Given the description of an element on the screen output the (x, y) to click on. 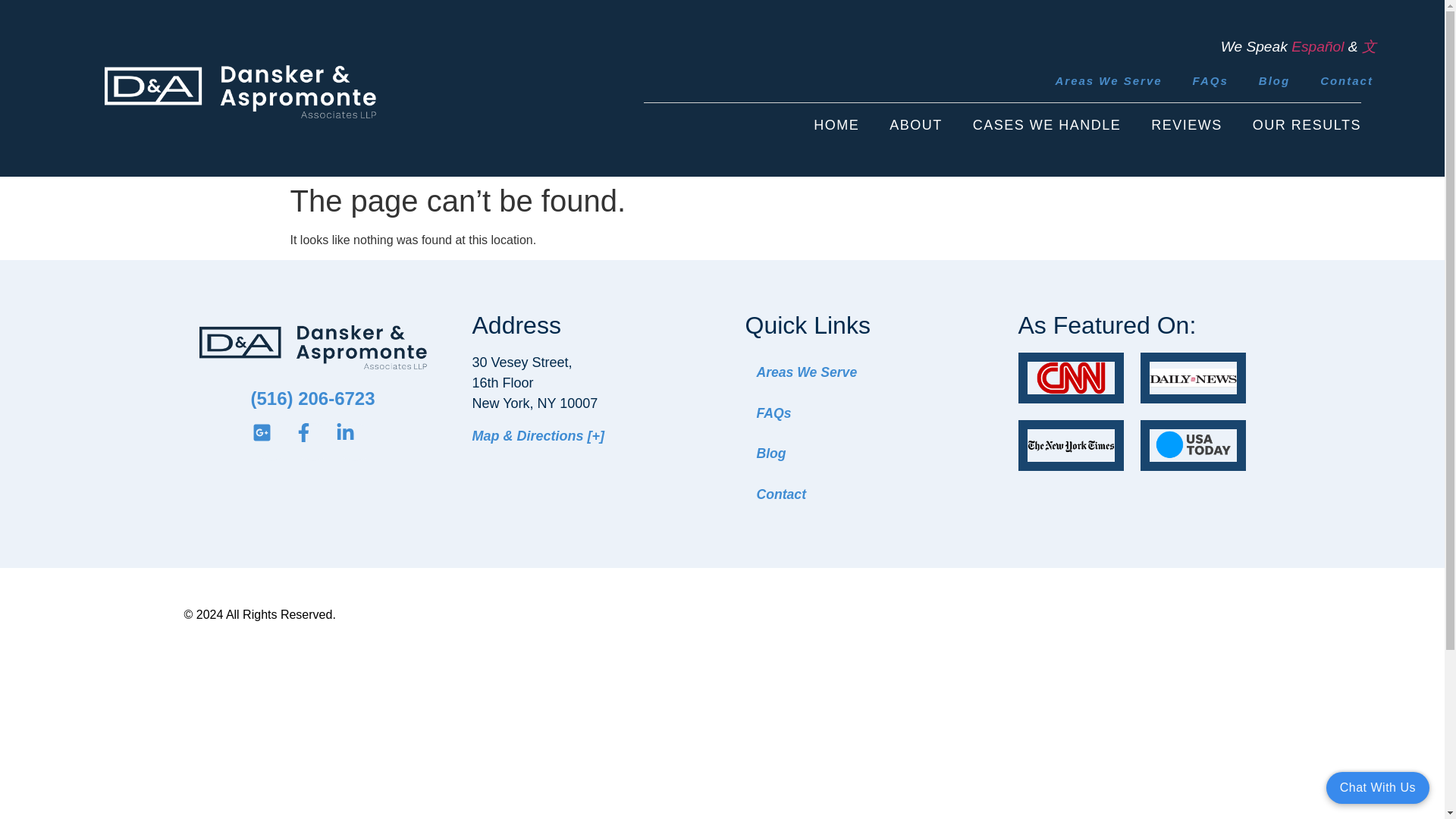
ABOUT (915, 124)
Blog (1273, 80)
Contact (1346, 80)
CASES WE HANDLE (1046, 124)
HOME (836, 124)
FAQs (1210, 80)
Areas We Serve (1107, 80)
